Given the description of an element on the screen output the (x, y) to click on. 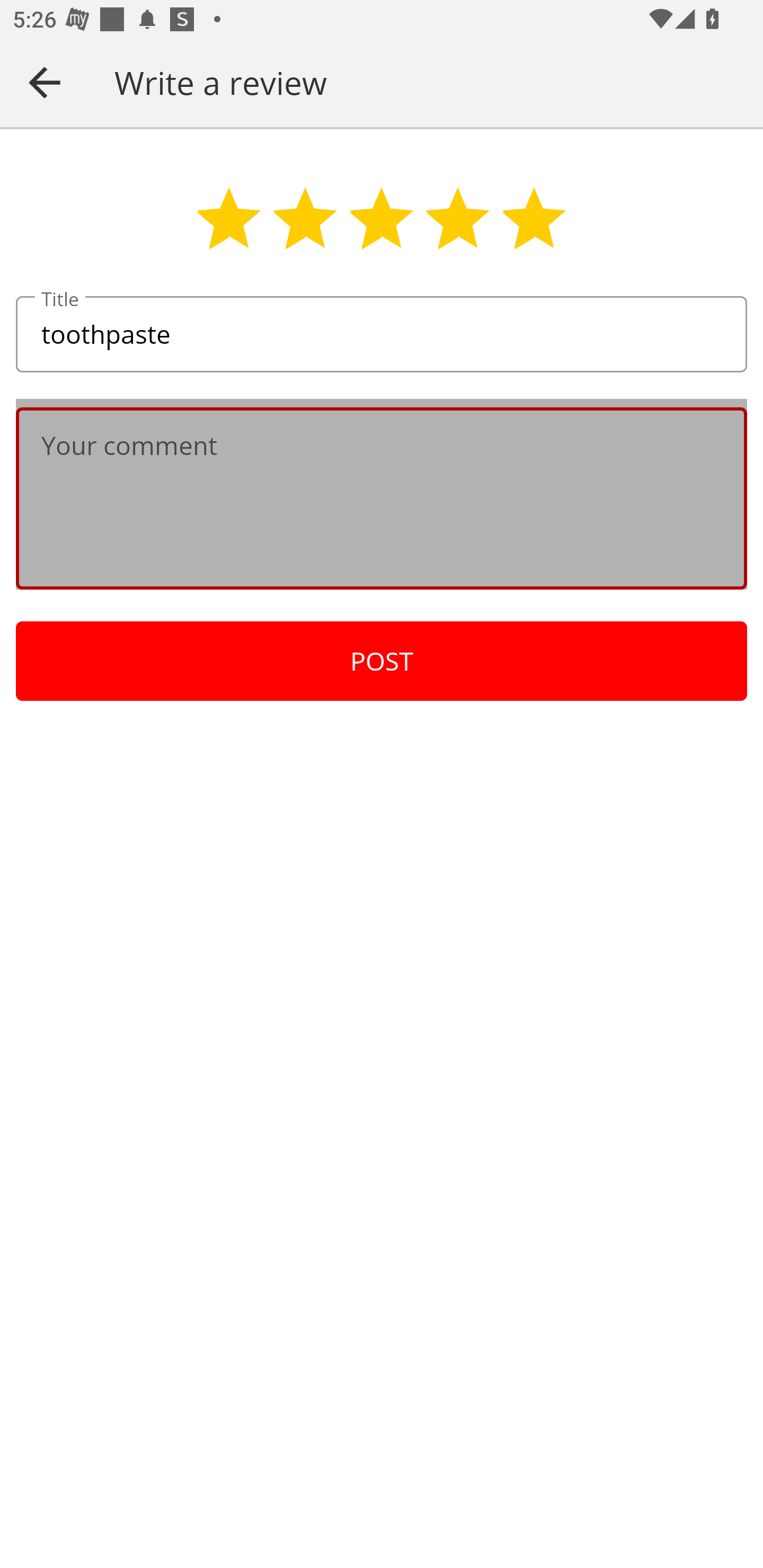
Navigate up (44, 82)
toothpaste (381, 334)
Your comment (381, 498)
POST (381, 660)
